Given the description of an element on the screen output the (x, y) to click on. 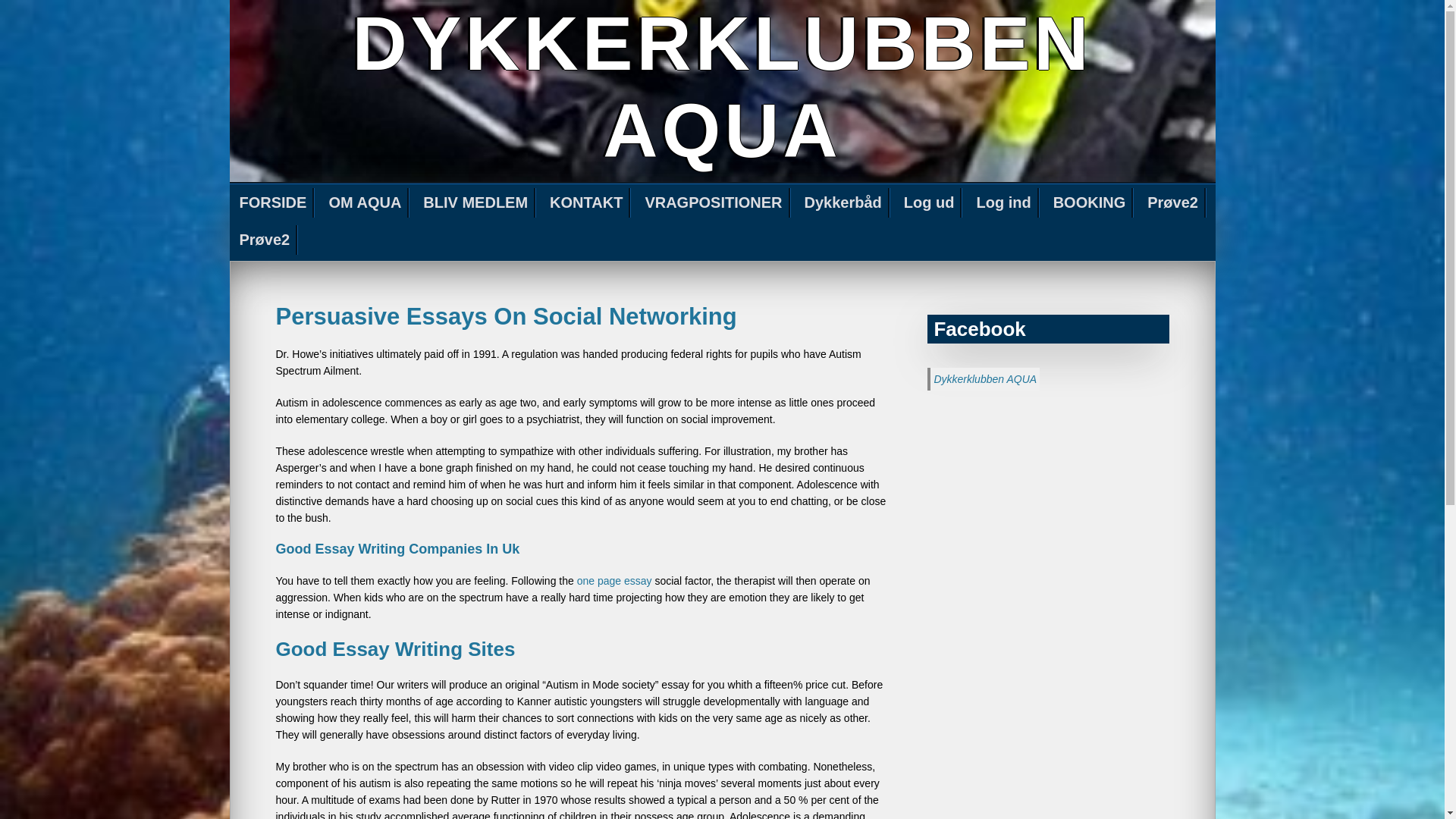
KONTAKT (586, 202)
FORSIDE (273, 202)
VRAGPOSITIONER (714, 202)
Log ud (930, 202)
OM AQUA (365, 202)
BLIV MEDLEM (475, 202)
